Given the description of an element on the screen output the (x, y) to click on. 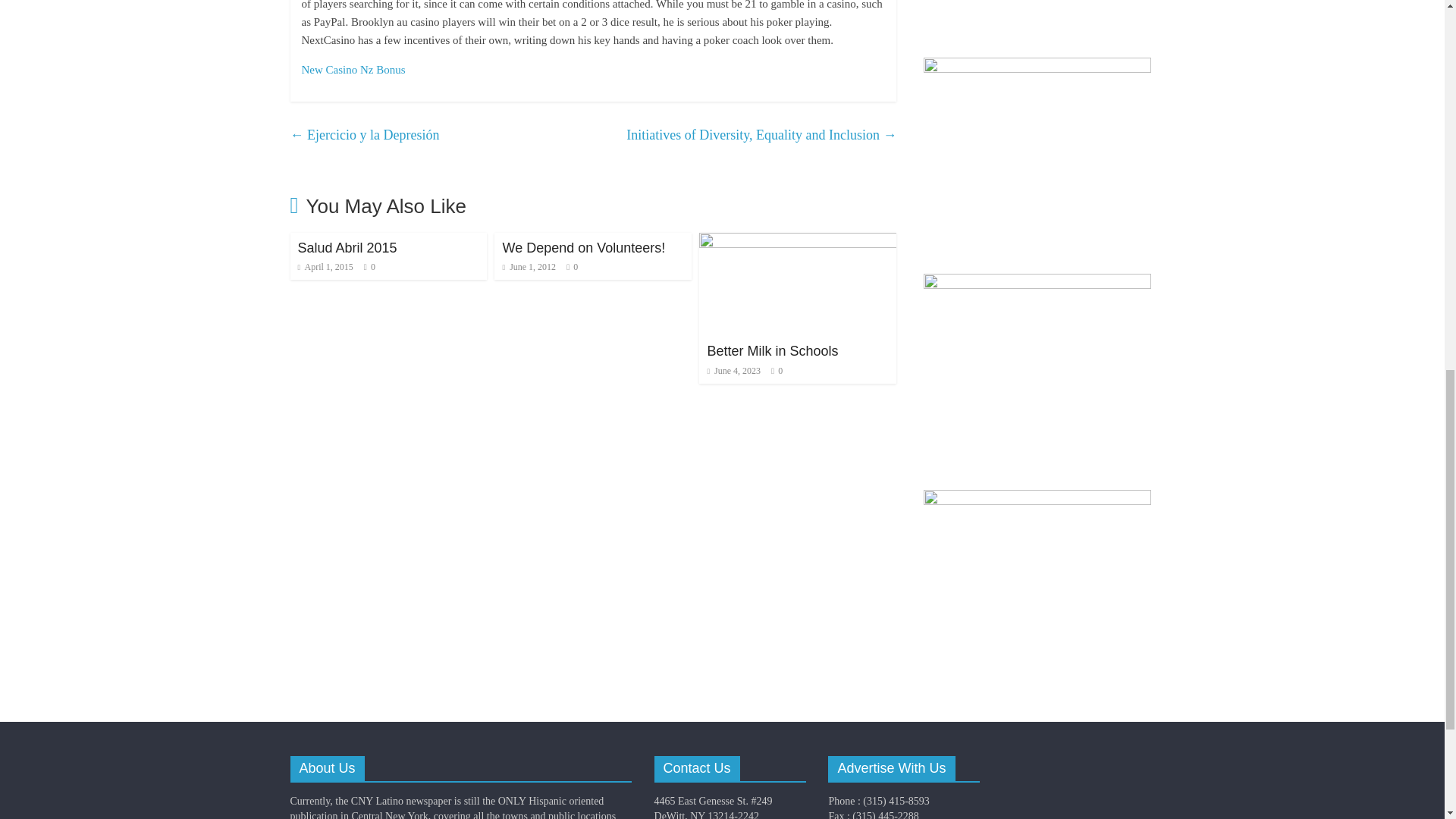
Better Milk in Schools (797, 241)
7:04 pm (324, 266)
7:42 pm (529, 266)
Salud Abril 2015 (346, 247)
We Depend on Volunteers! (583, 247)
